Given the description of an element on the screen output the (x, y) to click on. 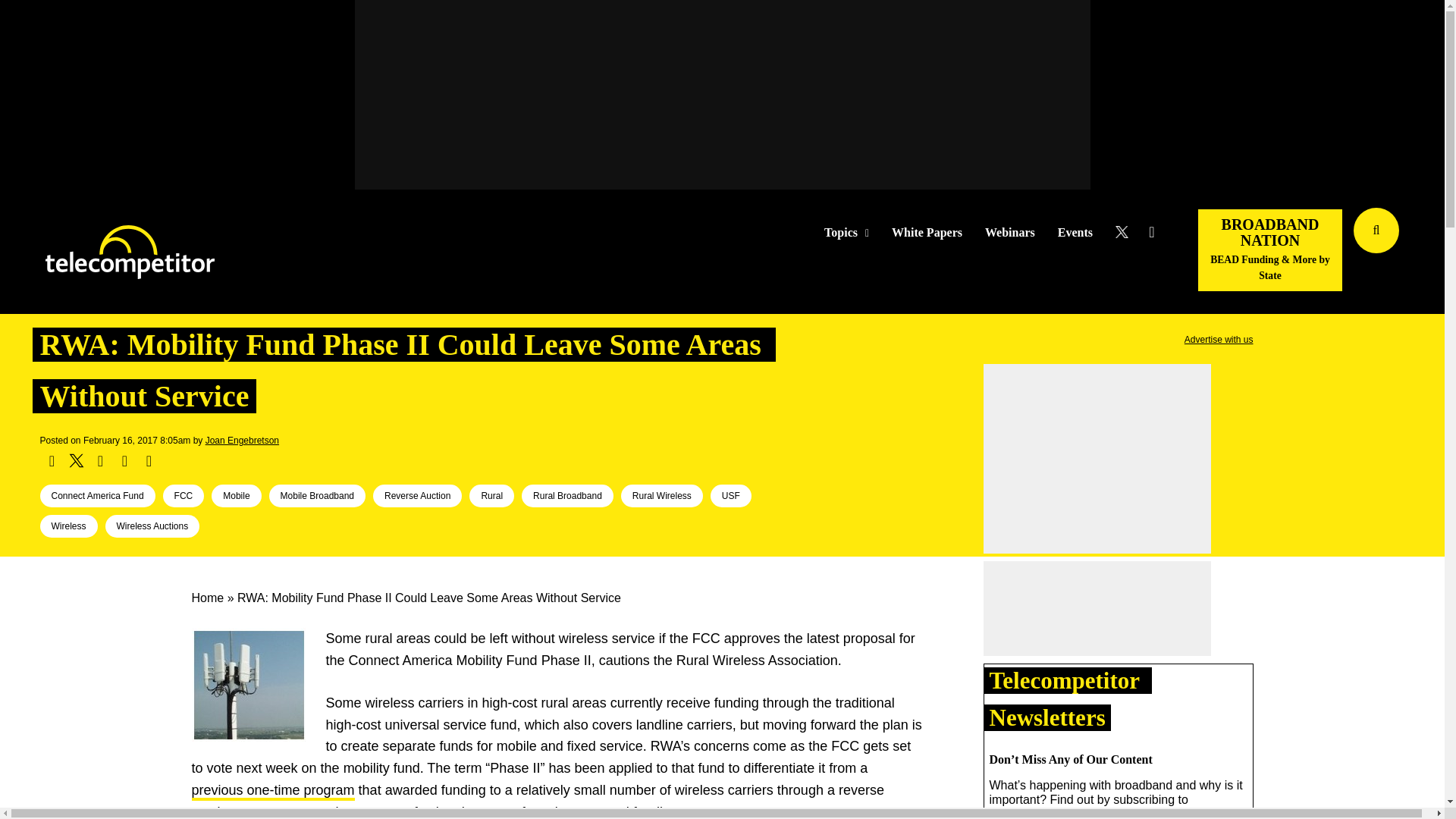
White Papers (927, 232)
Topics (846, 232)
Follow Us on LinkedIN (1151, 232)
Events (1074, 232)
Search (1430, 253)
Share on Facebook (51, 460)
Share on Linked In (99, 460)
Pinterest (124, 460)
Webinars (1010, 232)
Follow Us on Twitter (1127, 232)
